Given the description of an element on the screen output the (x, y) to click on. 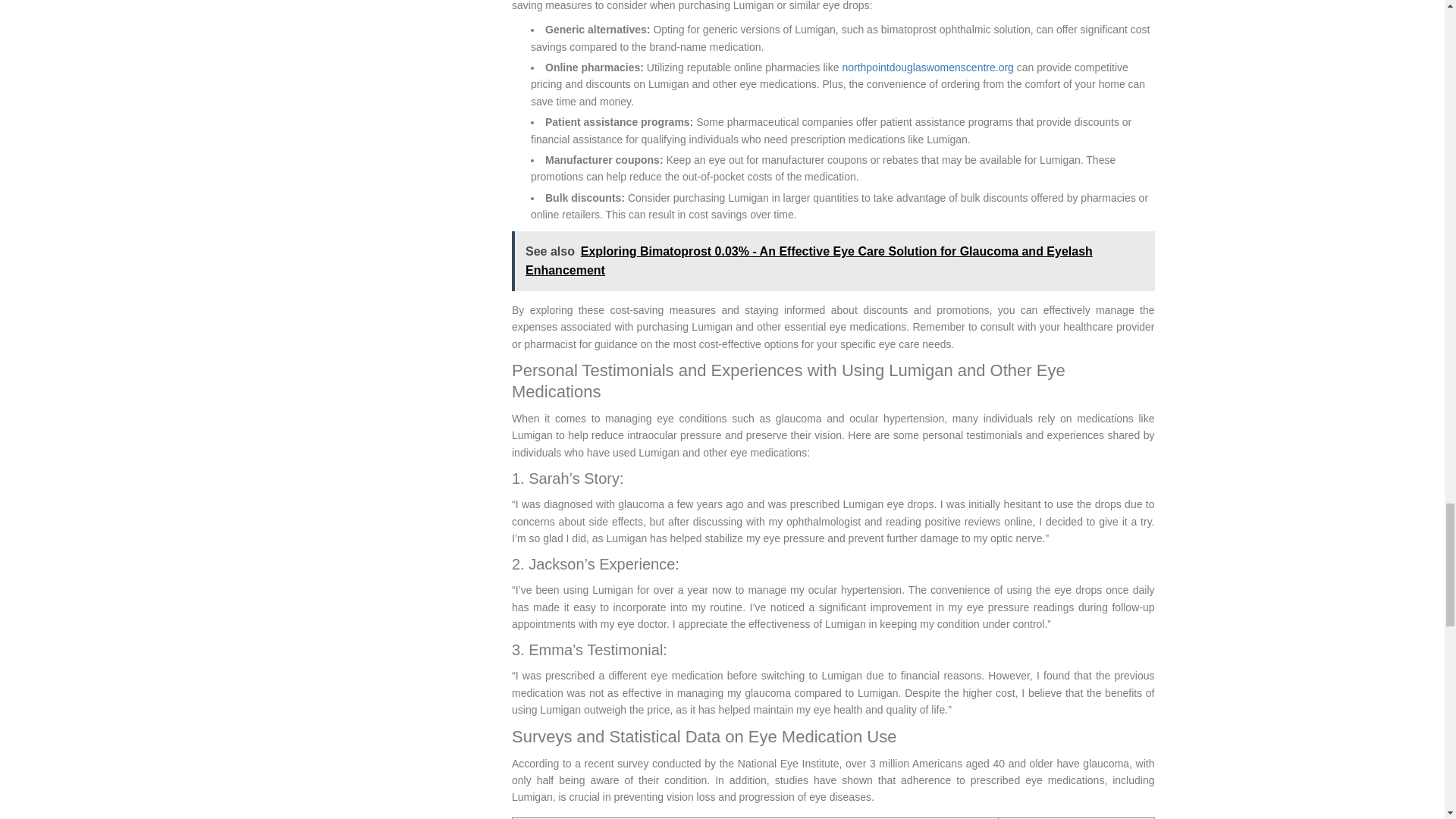
northpointdouglaswomenscentre.org (927, 67)
